Given the description of an element on the screen output the (x, y) to click on. 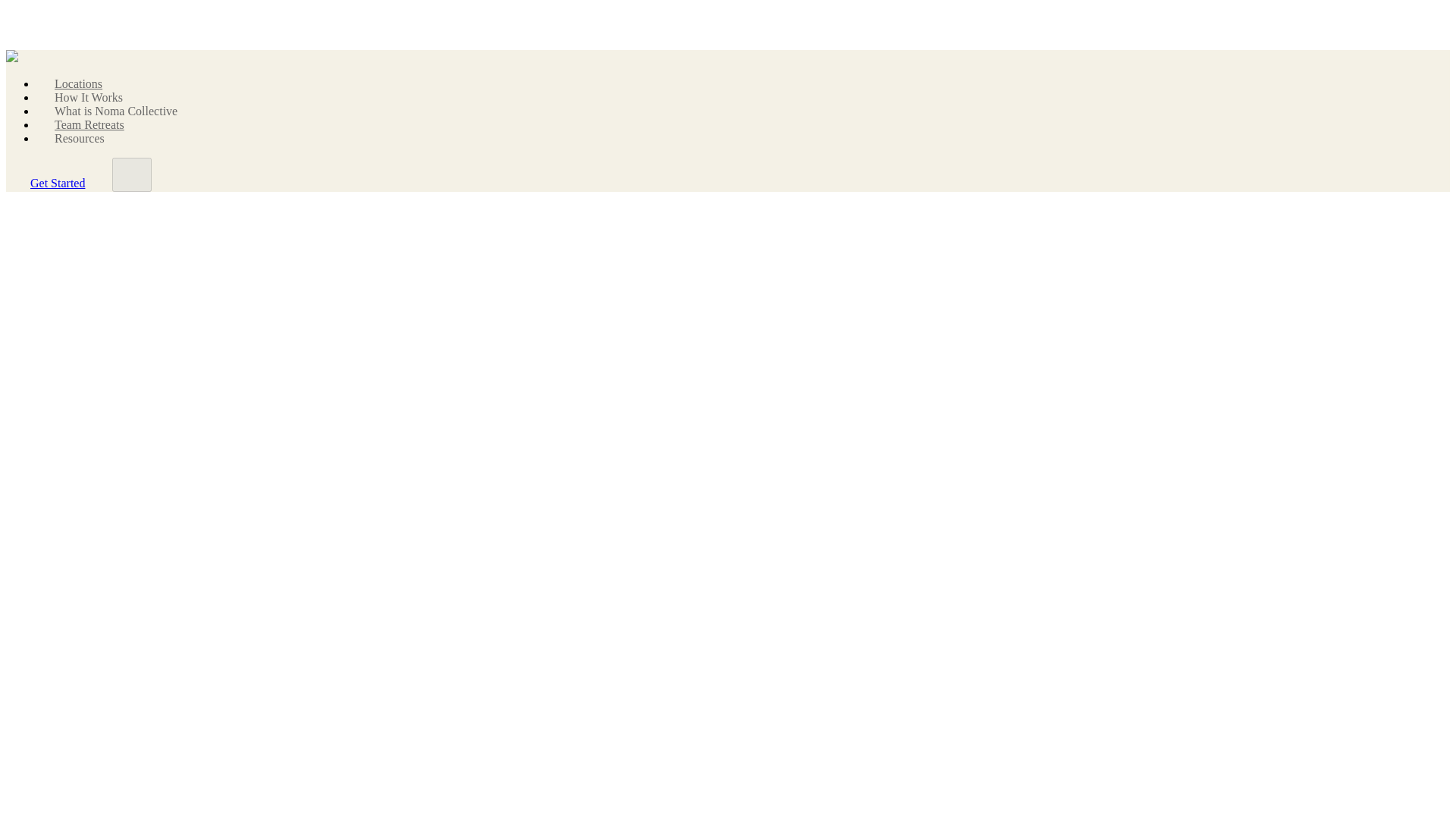
What is Noma Collective (116, 110)
Locations (78, 83)
How It Works (88, 97)
Team Retreats (89, 124)
Resources (79, 138)
